Given the description of an element on the screen output the (x, y) to click on. 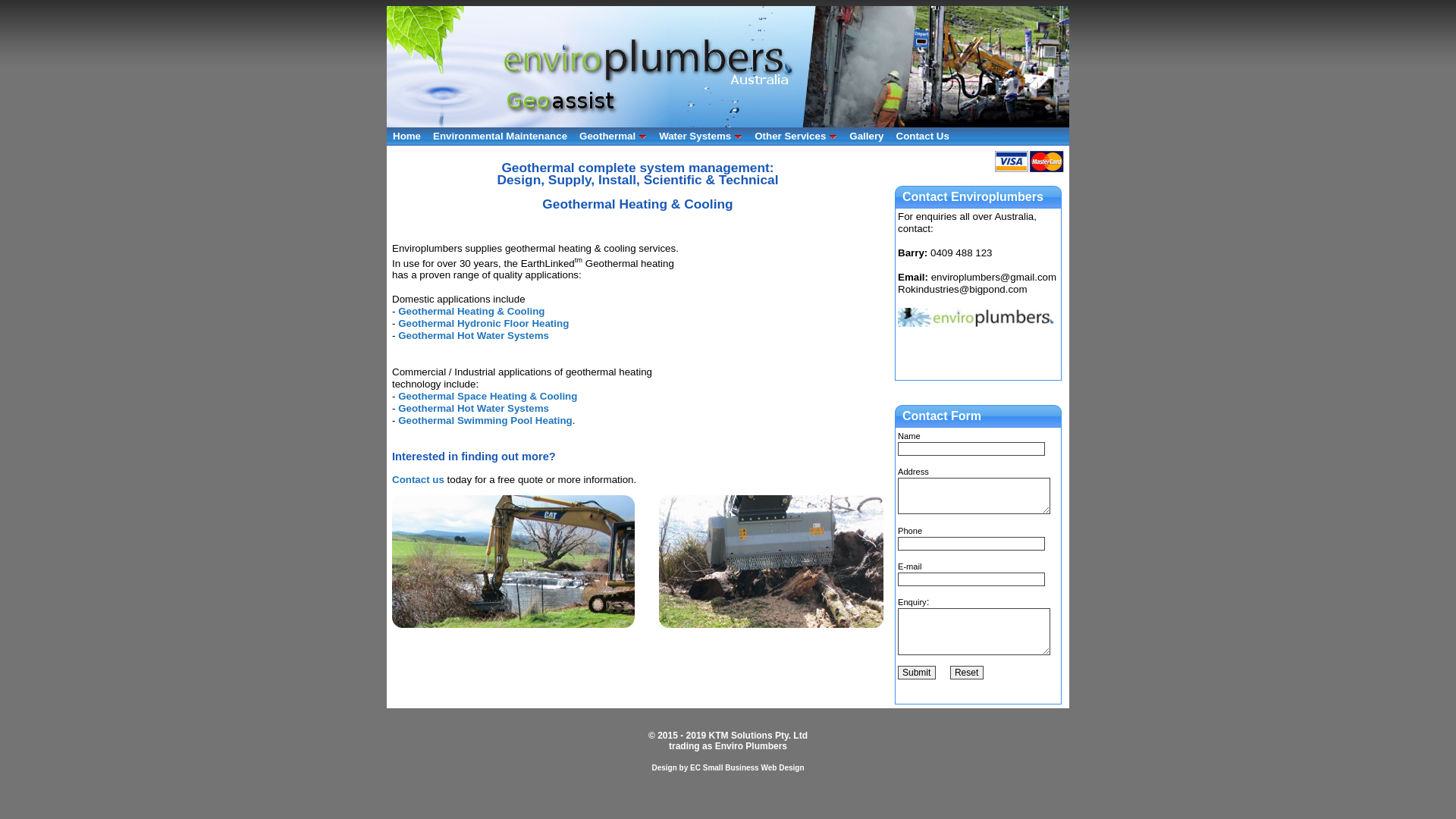
Geothermal Space Heating & Cooling Element type: text (487, 395)
Stormwater & Drainage Element type: hover (770, 561)
Contact us Element type: text (418, 479)
Home Element type: text (406, 135)
YouTube video player Element type: hover (788, 357)
Gallery Element type: text (866, 135)
Geothermal Hot Water Systems Element type: text (473, 335)
Submit Element type: text (916, 672)
Geothermal Swimming Pool Heating Element type: text (485, 420)
Contact Us Element type: text (922, 135)
Geothermal Heating & Cooling Element type: text (471, 310)
Small Business Web Design Element type: text (753, 767)
Water Systems Element type: text (700, 135)
Environmental Maintenance Element type: text (499, 135)
Geothermal Hydronic Floor Heating Element type: text (483, 323)
Sewer & drainage works Element type: hover (513, 561)
Visa & Mastercard Accepted Element type: hover (1029, 161)
Other Services Element type: text (795, 135)
Geothermal Element type: text (612, 135)
Geothermal Hot Water Systems Element type: text (473, 408)
